Given the description of an element on the screen output the (x, y) to click on. 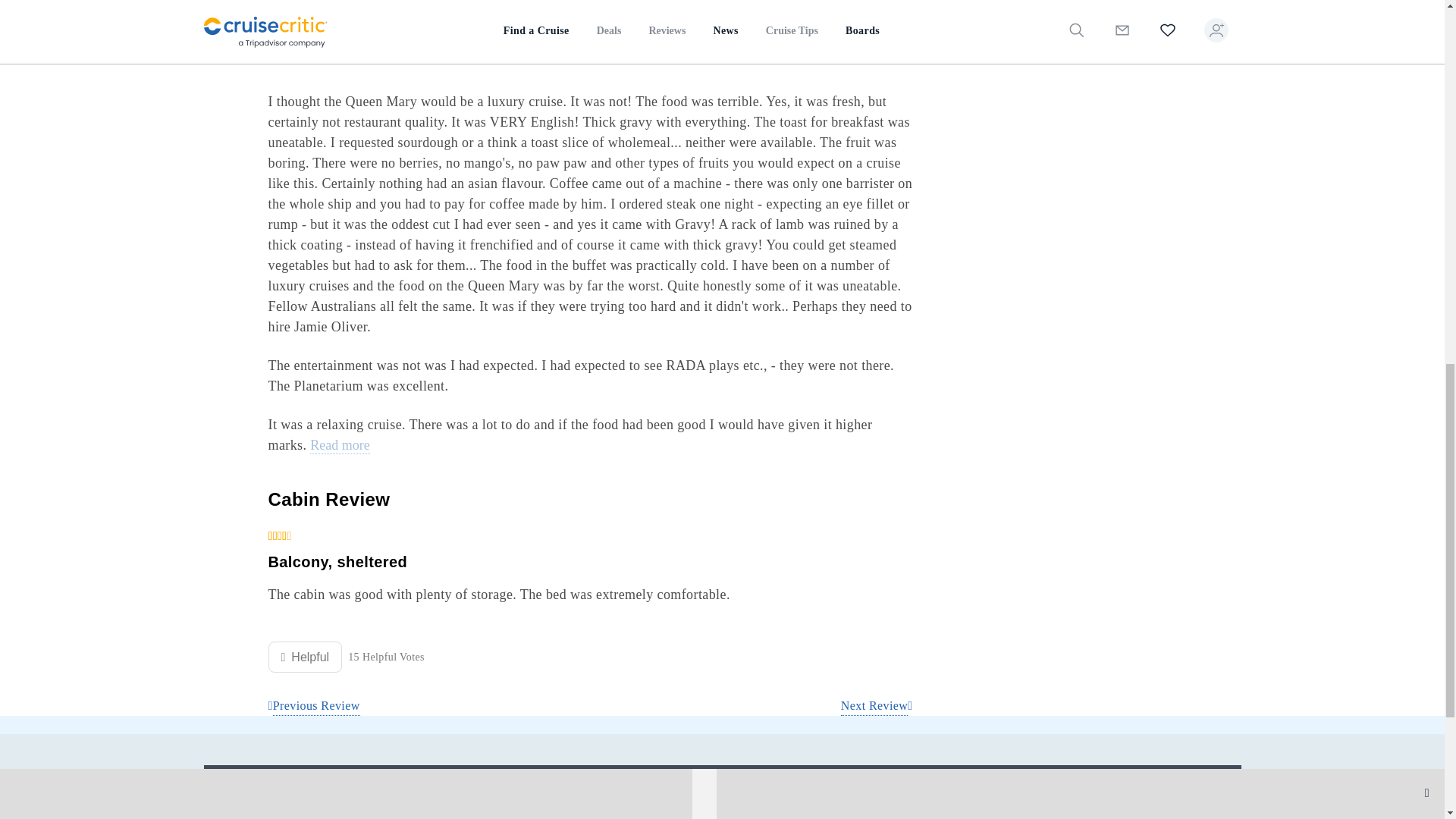
Previous Review (313, 705)
Helpful (304, 656)
Read more (339, 445)
Next Review (876, 705)
